Given the description of an element on the screen output the (x, y) to click on. 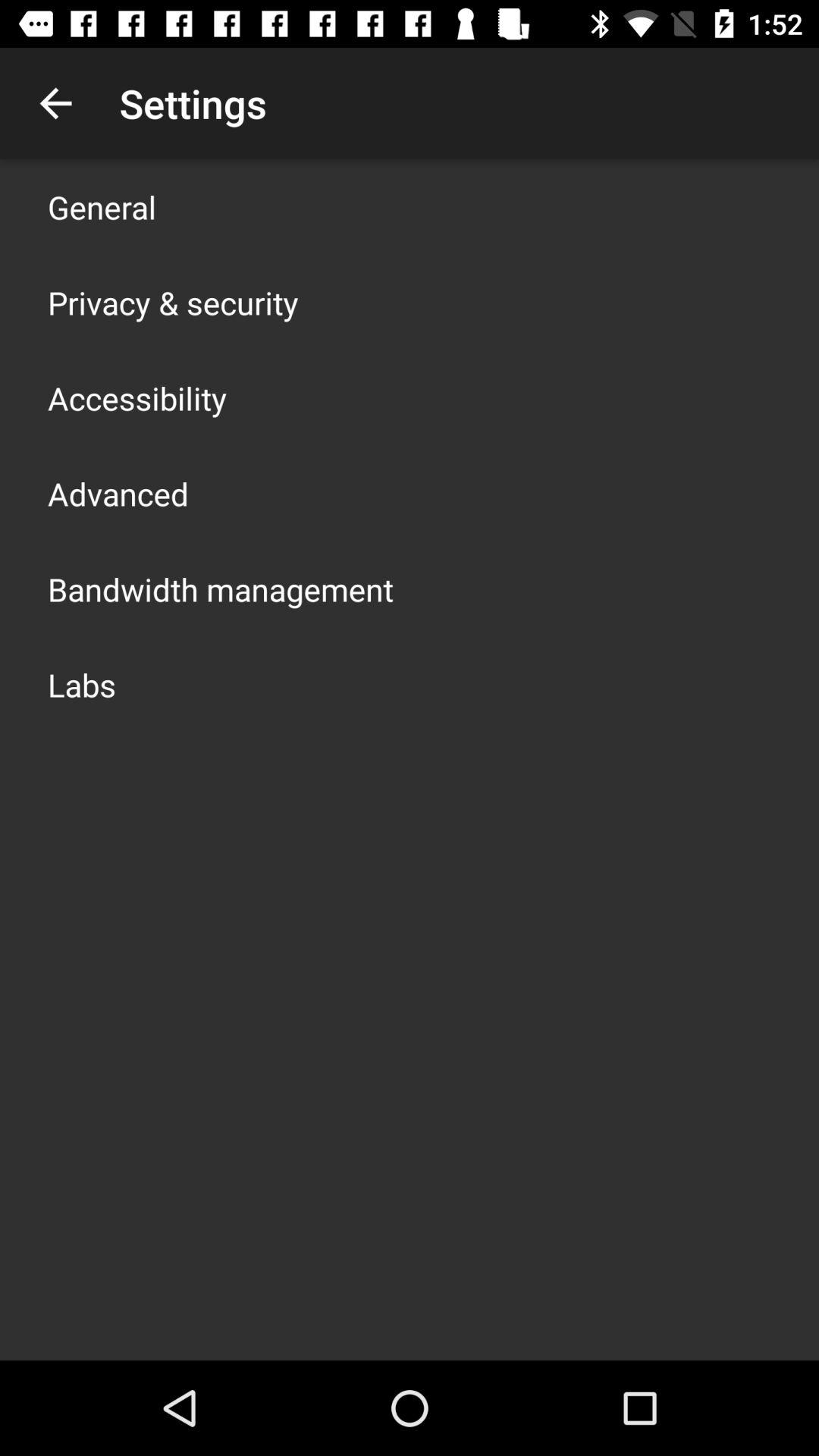
click the app above the bandwidth management app (117, 493)
